Given the description of an element on the screen output the (x, y) to click on. 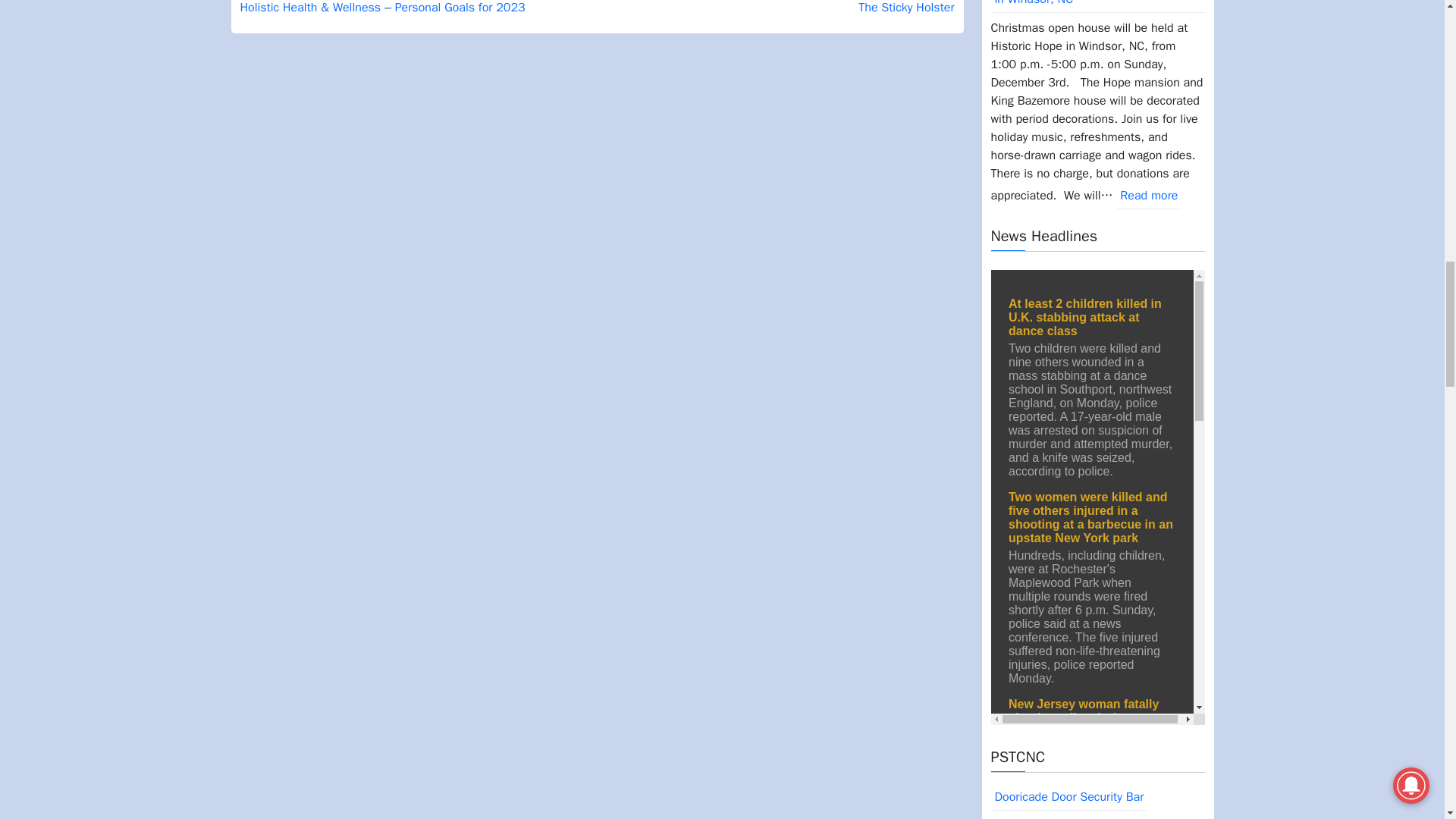
Dooricade Door Security Bar (1068, 796)
Dooricade Door Security Bar (1068, 796)
The Sticky Holster (906, 7)
Christmas open house Historic Hope in Windsor, NC (1097, 6)
